Given the description of an element on the screen output the (x, y) to click on. 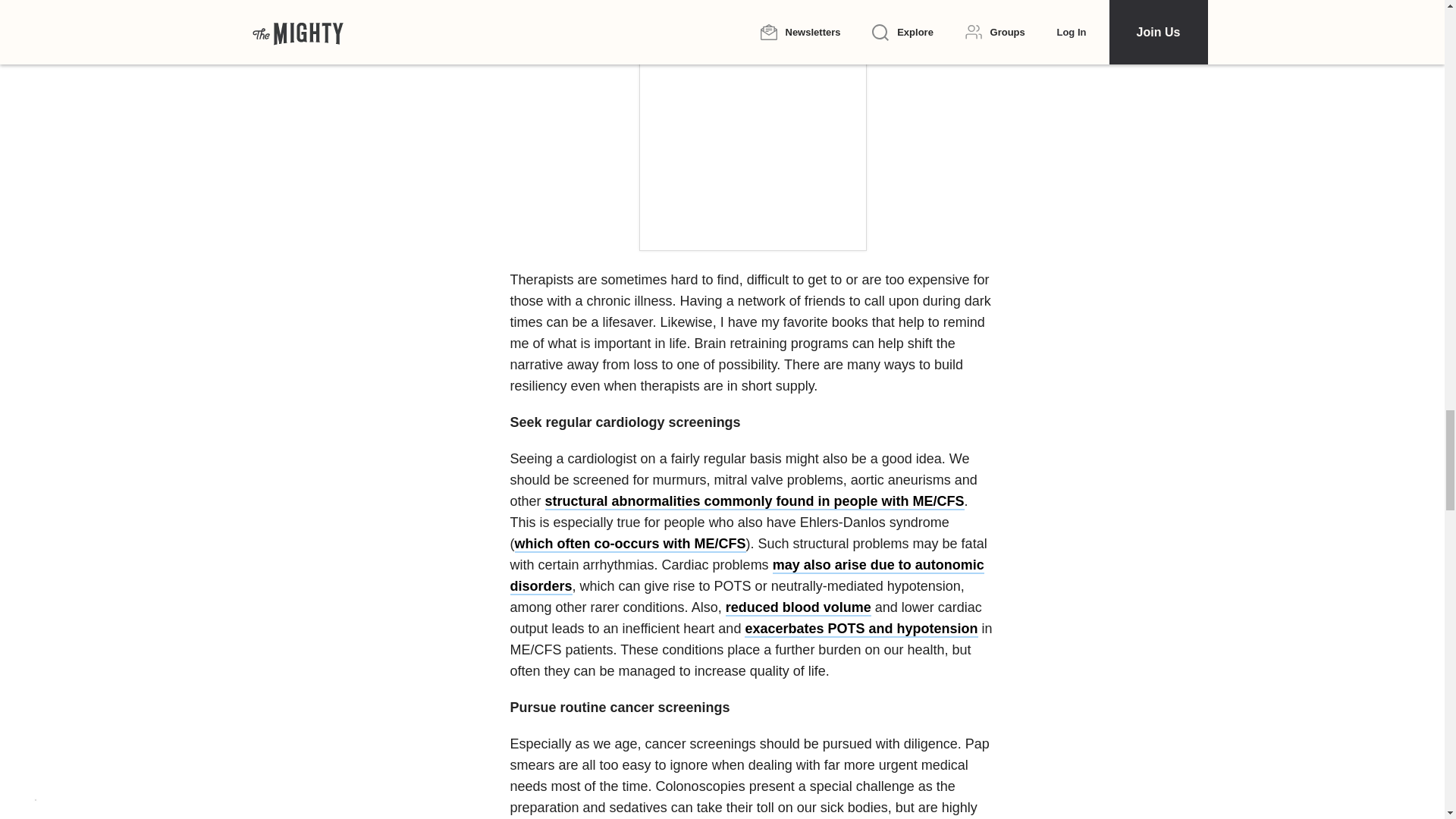
one of the lowest quality of life scores (633, 2)
reduced blood volume (797, 607)
may also arise due to autonomic disorders (746, 576)
